Given the description of an element on the screen output the (x, y) to click on. 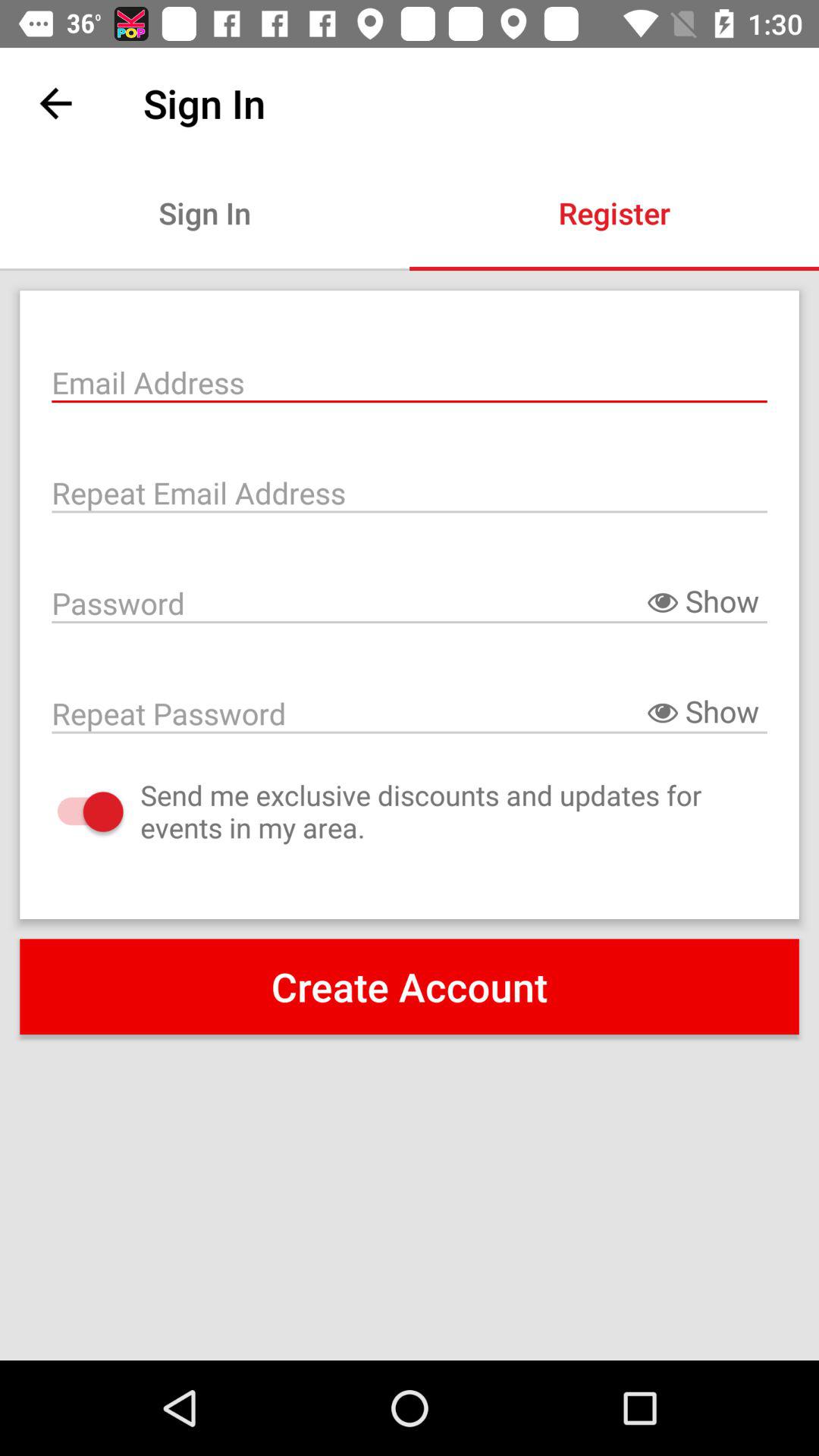
enter email address again (409, 491)
